Given the description of an element on the screen output the (x, y) to click on. 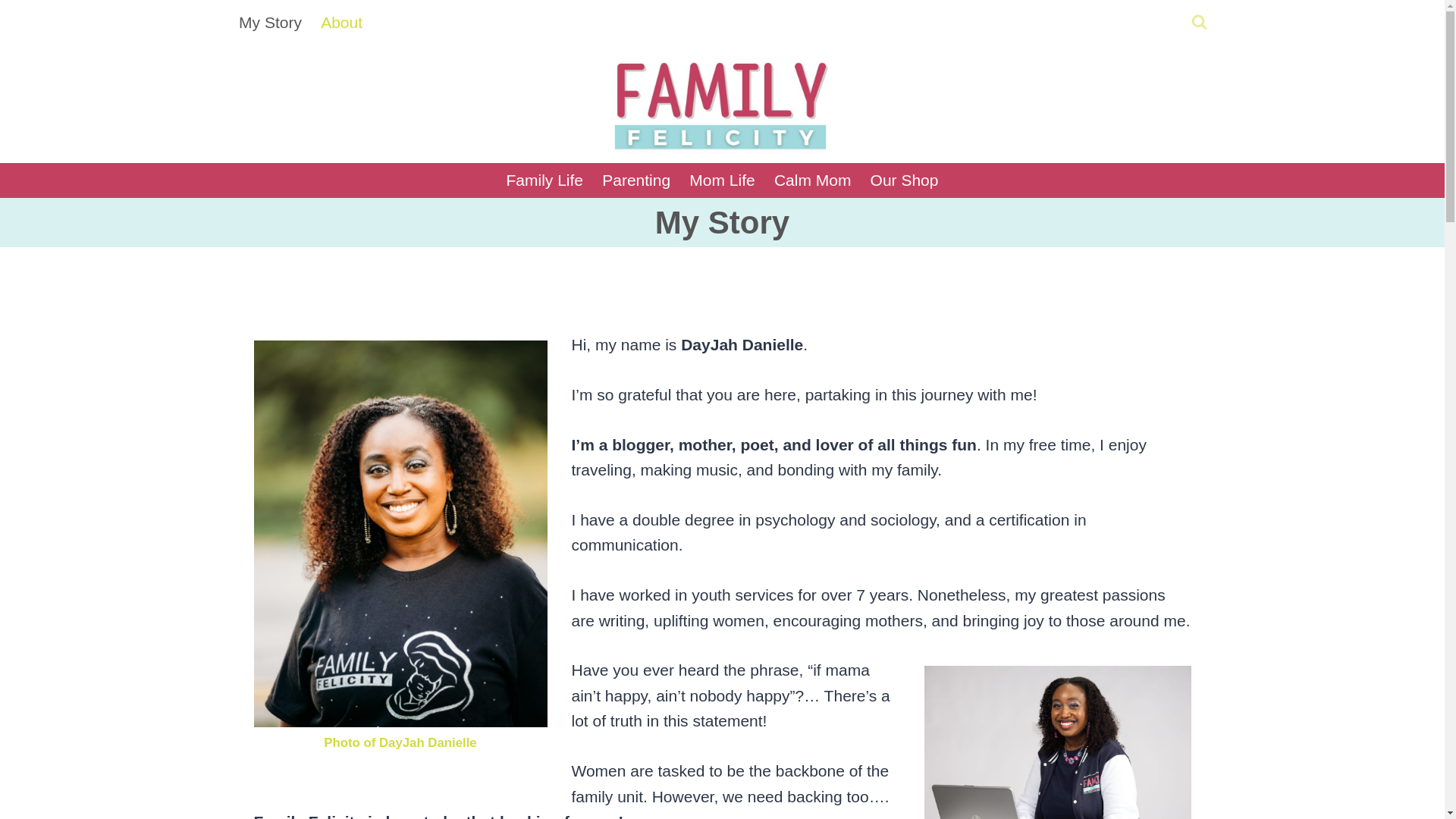
About (341, 22)
My Story (269, 22)
Mom Life (722, 180)
Parenting (635, 180)
Calm Mom (812, 180)
Family Life (544, 180)
Our Shop (903, 180)
